Given the description of an element on the screen output the (x, y) to click on. 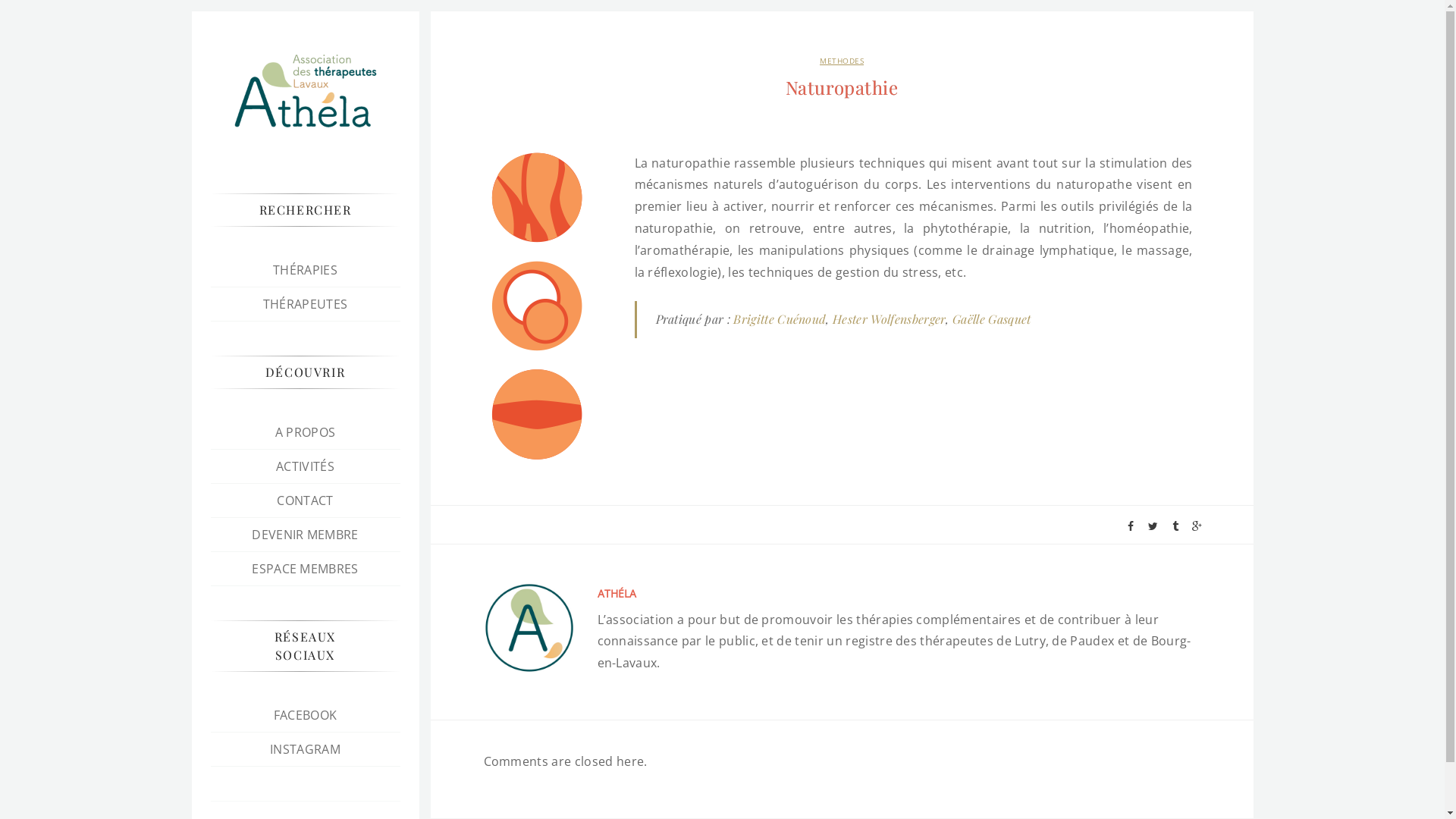
ESPACE MEMBRES Element type: text (304, 568)
FACEBOOK Element type: text (305, 714)
Hester Wolfensberger Element type: text (888, 318)
Parler Element type: hover (536, 414)
INSTAGRAM Element type: text (304, 748)
A PROPOS Element type: text (305, 431)
CONTACT Element type: text (304, 500)
Plantes Element type: hover (536, 197)
METHODES Element type: text (841, 60)
Naturopathie Element type: text (841, 87)
DEVENIR MEMBRE Element type: text (304, 534)
